Given the description of an element on the screen output the (x, y) to click on. 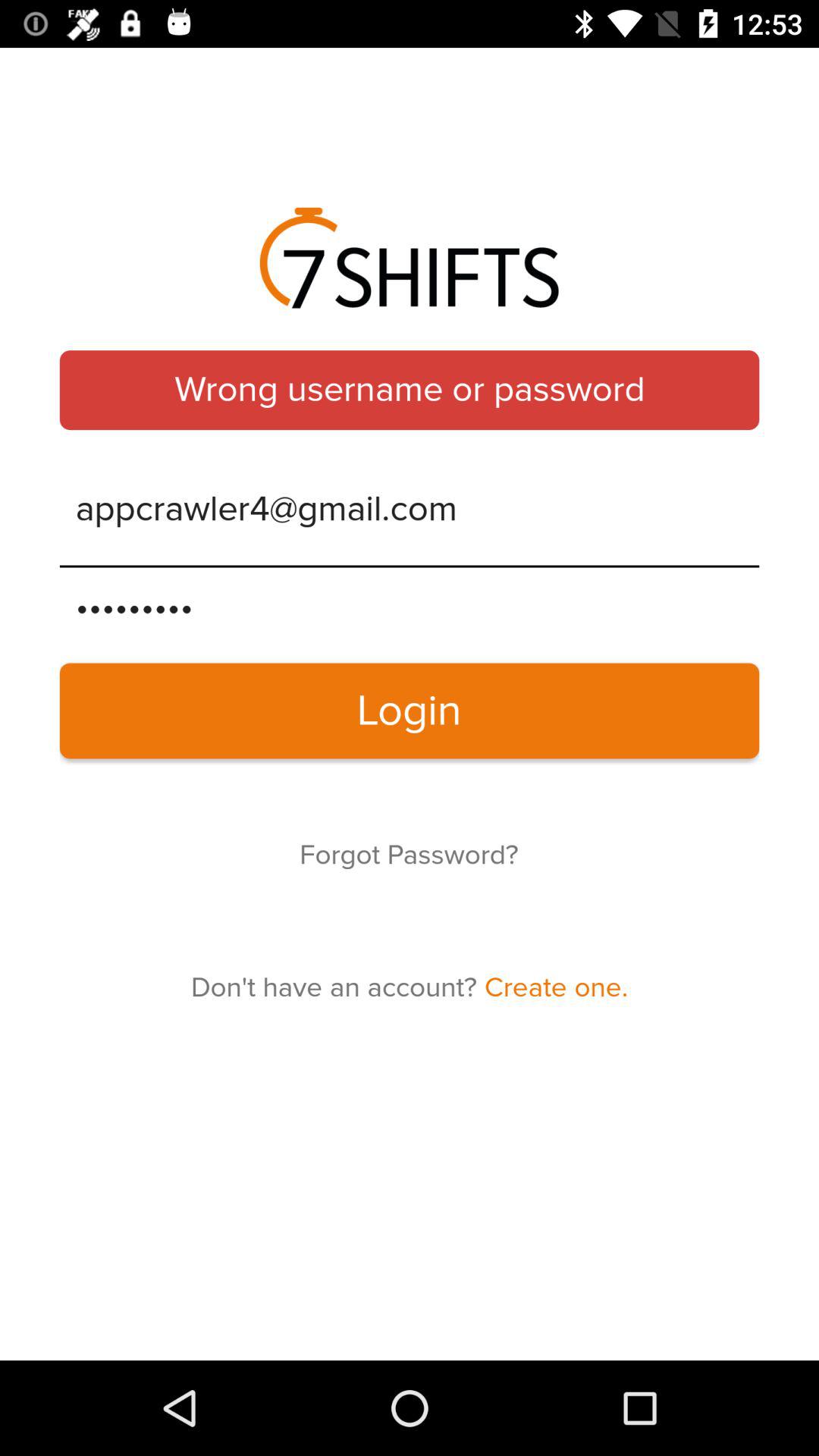
scroll to forgot password? (408, 854)
